Given the description of an element on the screen output the (x, y) to click on. 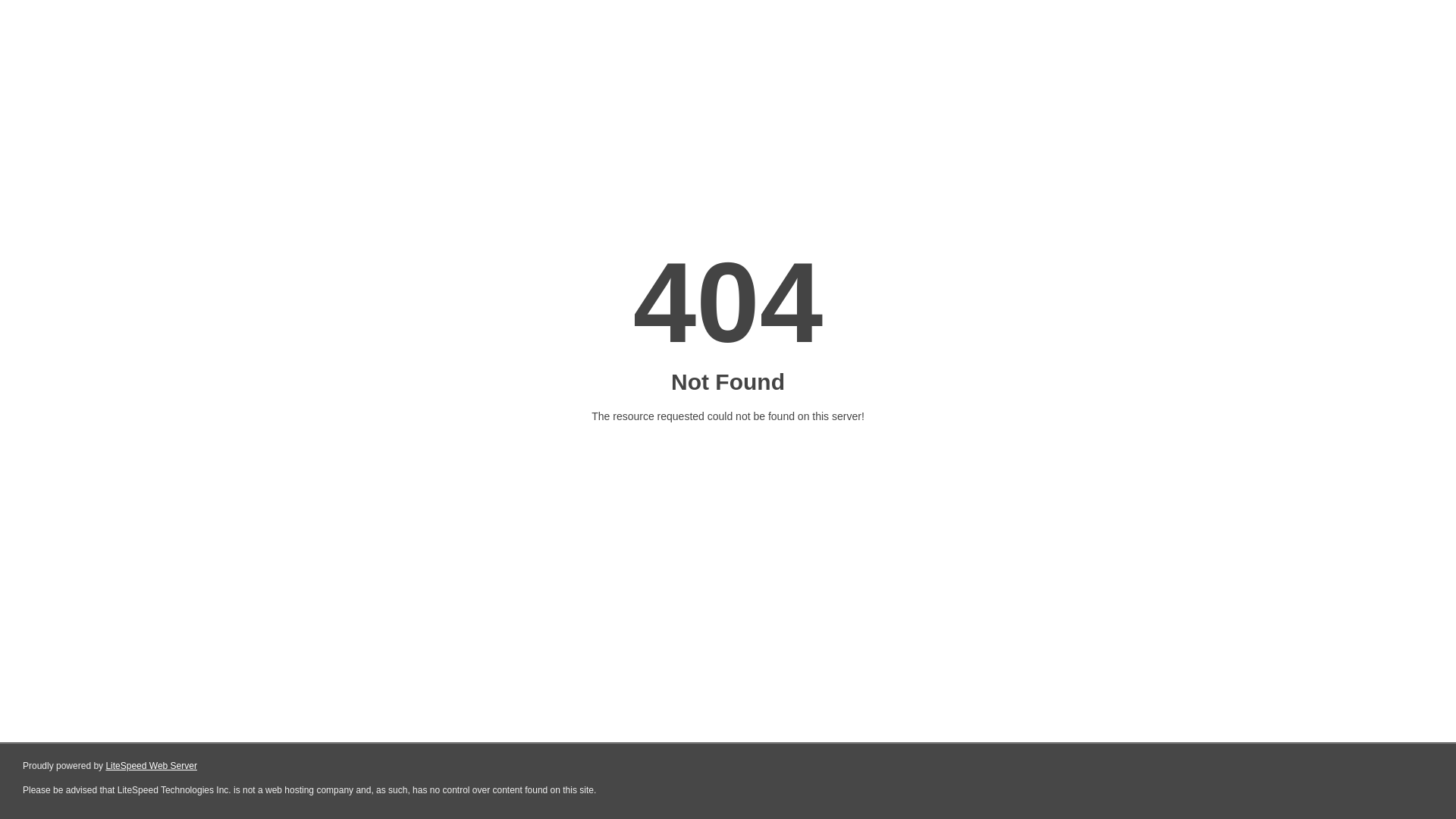
LiteSpeed Web Server Element type: text (151, 765)
